Given the description of an element on the screen output the (x, y) to click on. 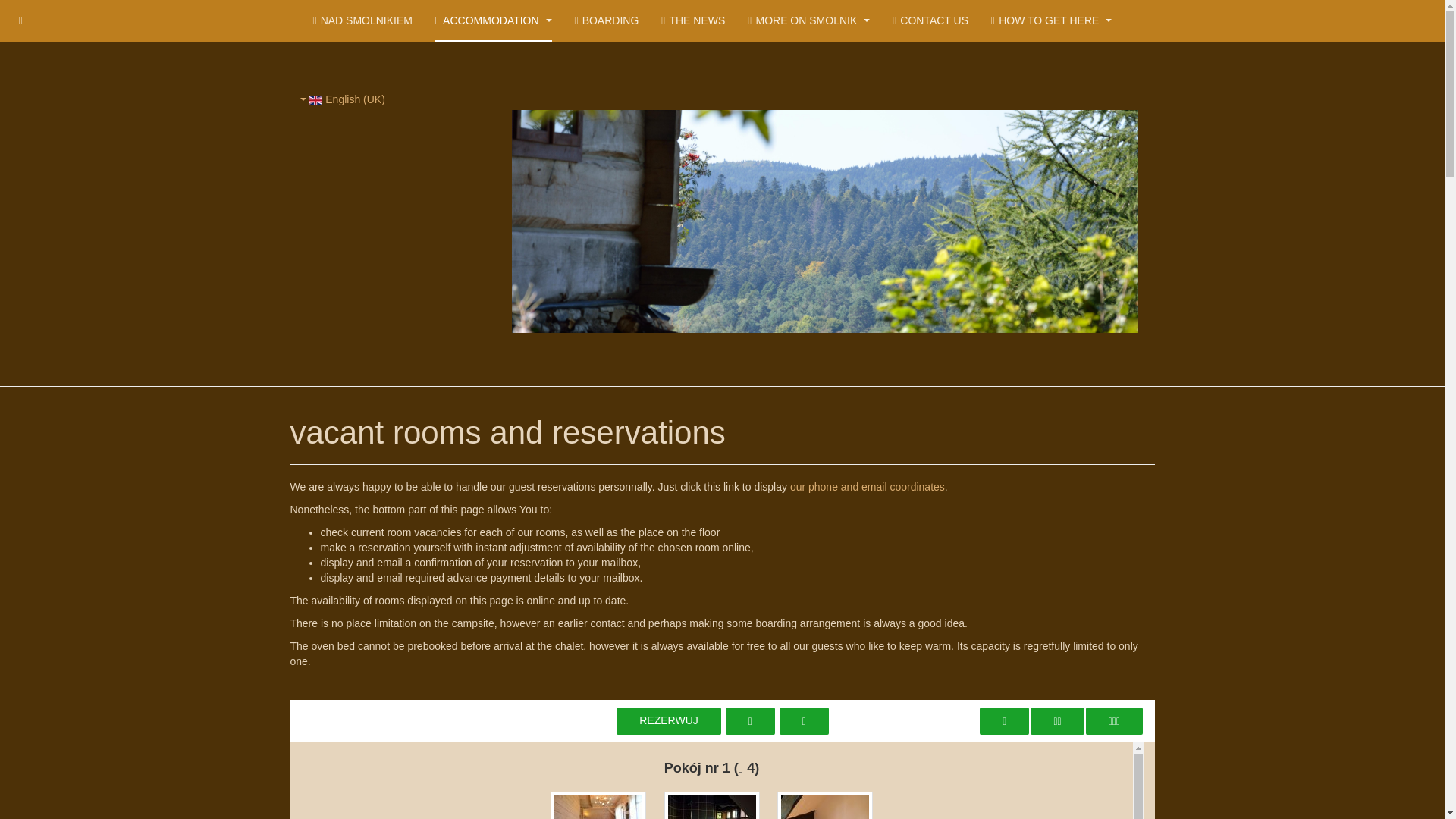
ACCOMMODATION (493, 20)
BOARDING (607, 20)
NAD SMOLNIKIEM (362, 20)
MORE ON SMOLNIK (808, 20)
THE NEWS (693, 20)
CONTACT US (930, 20)
